Given the description of an element on the screen output the (x, y) to click on. 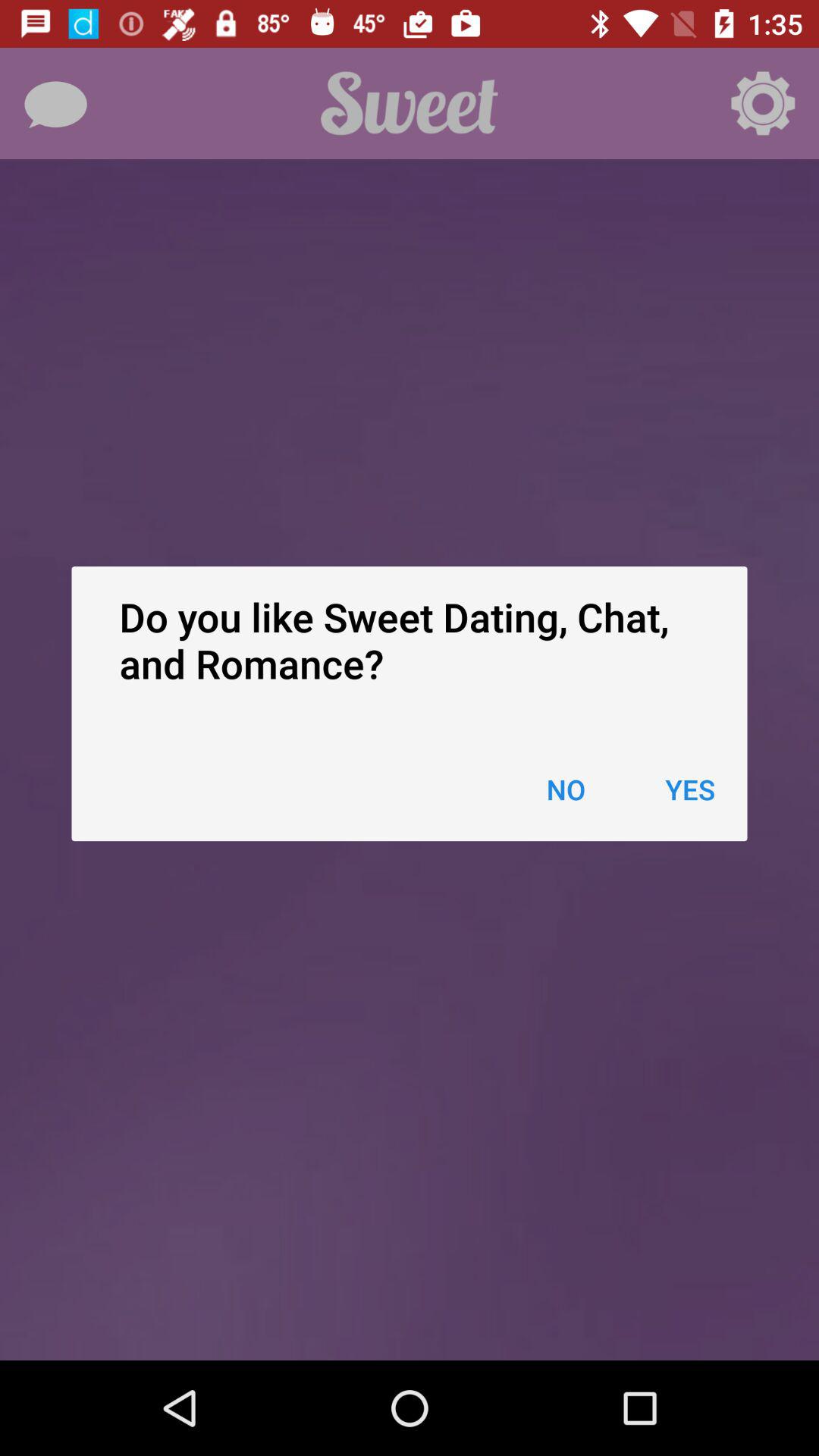
select yes item (690, 789)
